Given the description of an element on the screen output the (x, y) to click on. 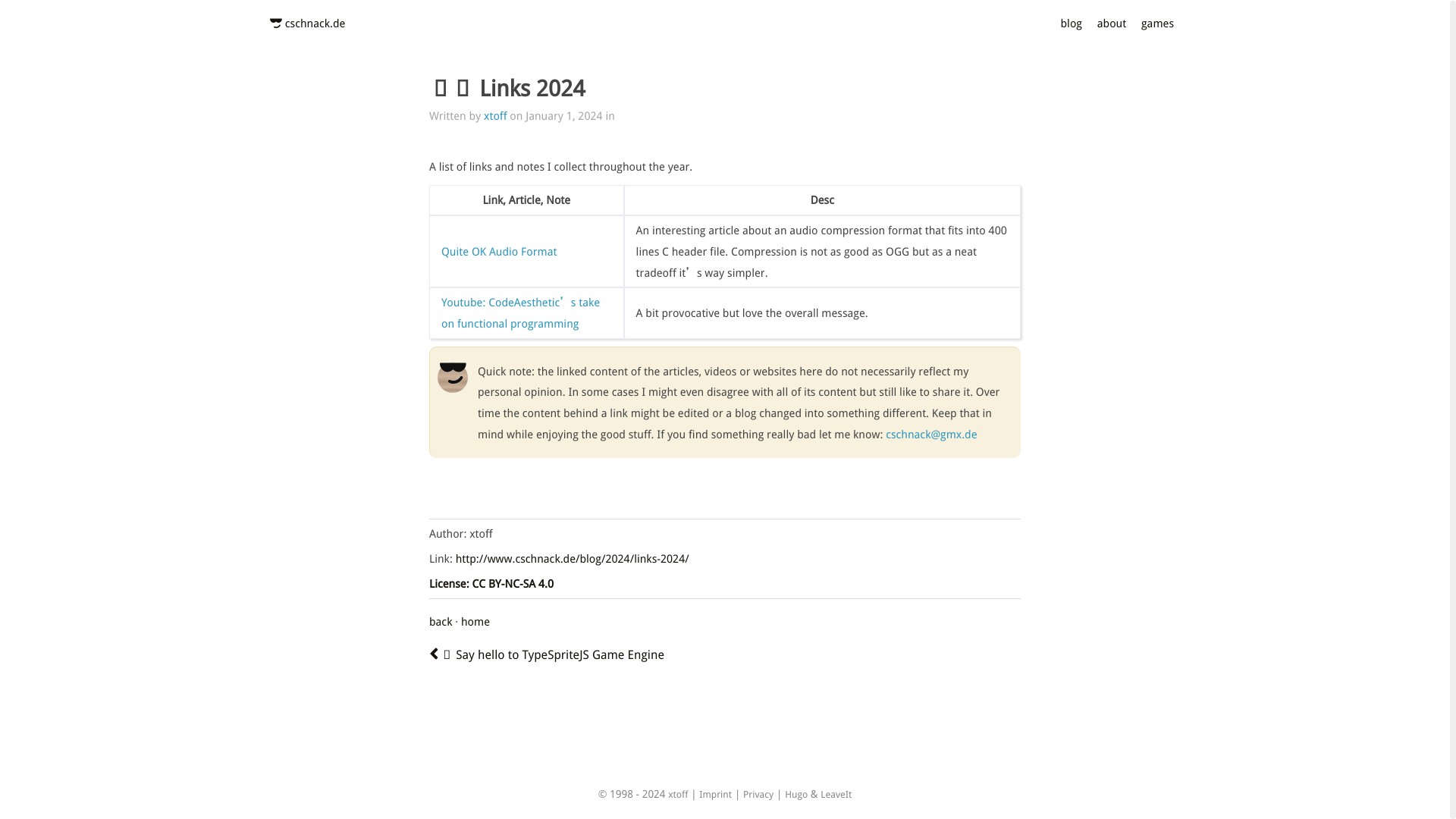
Quite OK Audio Format (499, 250)
Hugo (796, 794)
games (1157, 22)
blog (1070, 22)
cschnack.de (315, 22)
home (475, 621)
LeaveIt (836, 794)
back (440, 621)
about (1111, 22)
Imprint (715, 794)
xtoff (677, 794)
xtoff (494, 115)
Privacy (757, 794)
License: CC BY-NC-SA 4.0 (491, 583)
